Given the description of an element on the screen output the (x, y) to click on. 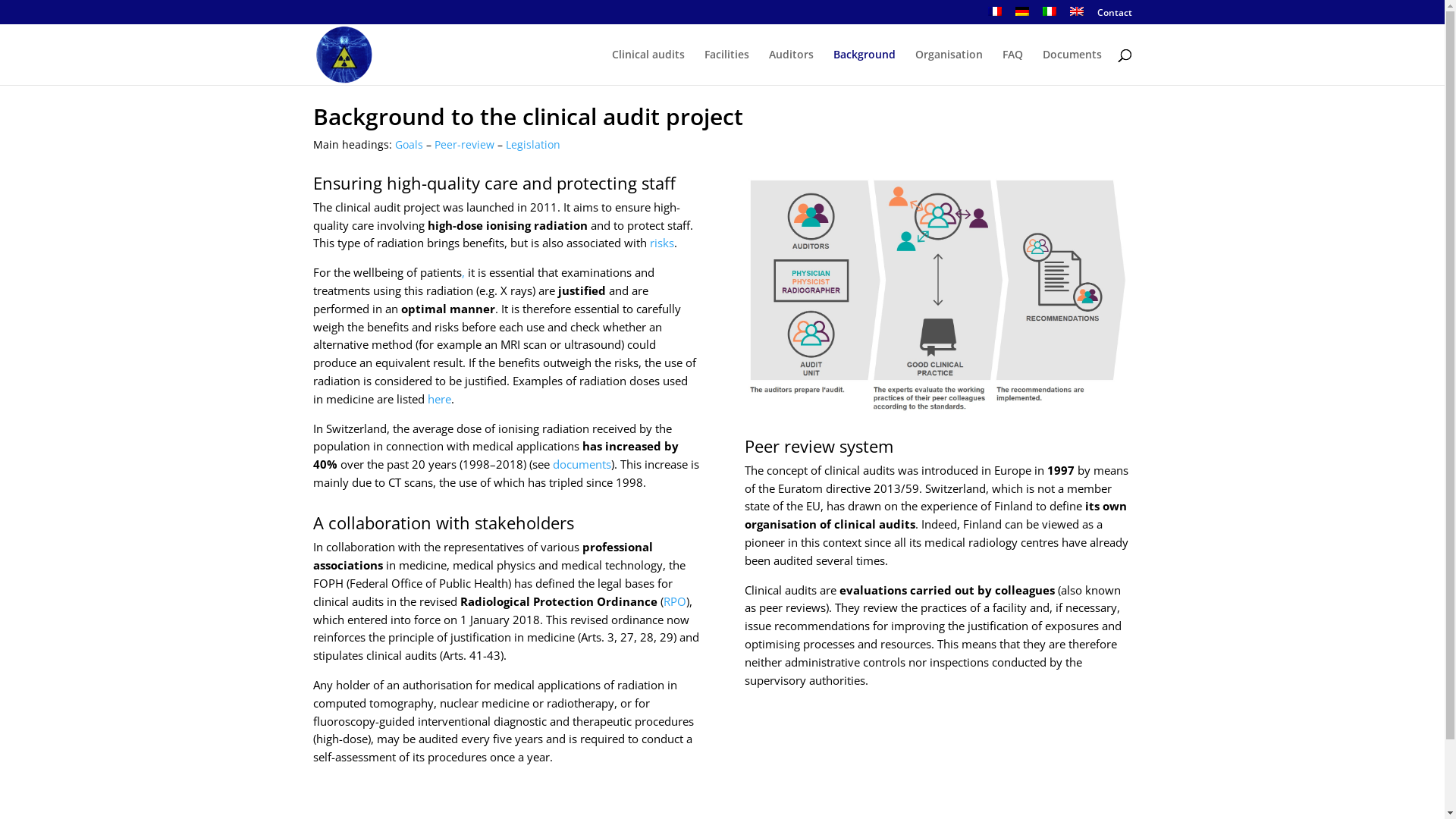
Goals Element type: text (408, 144)
Clinical audits Element type: text (647, 66)
risks Element type: text (661, 242)
RPO Element type: text (673, 600)
here Element type: text (439, 398)
context_e Element type: hover (937, 294)
, Element type: text (462, 271)
Organisation Element type: text (948, 66)
Facilities Element type: text (725, 66)
FAQ Element type: text (1012, 66)
Auditors Element type: text (790, 66)
Documents Element type: text (1071, 66)
Background Element type: text (863, 66)
documents Element type: text (581, 463)
Legislation Element type: text (532, 144)
Contact Element type: text (1113, 16)
Peer-review Element type: text (463, 144)
